Given the description of an element on the screen output the (x, y) to click on. 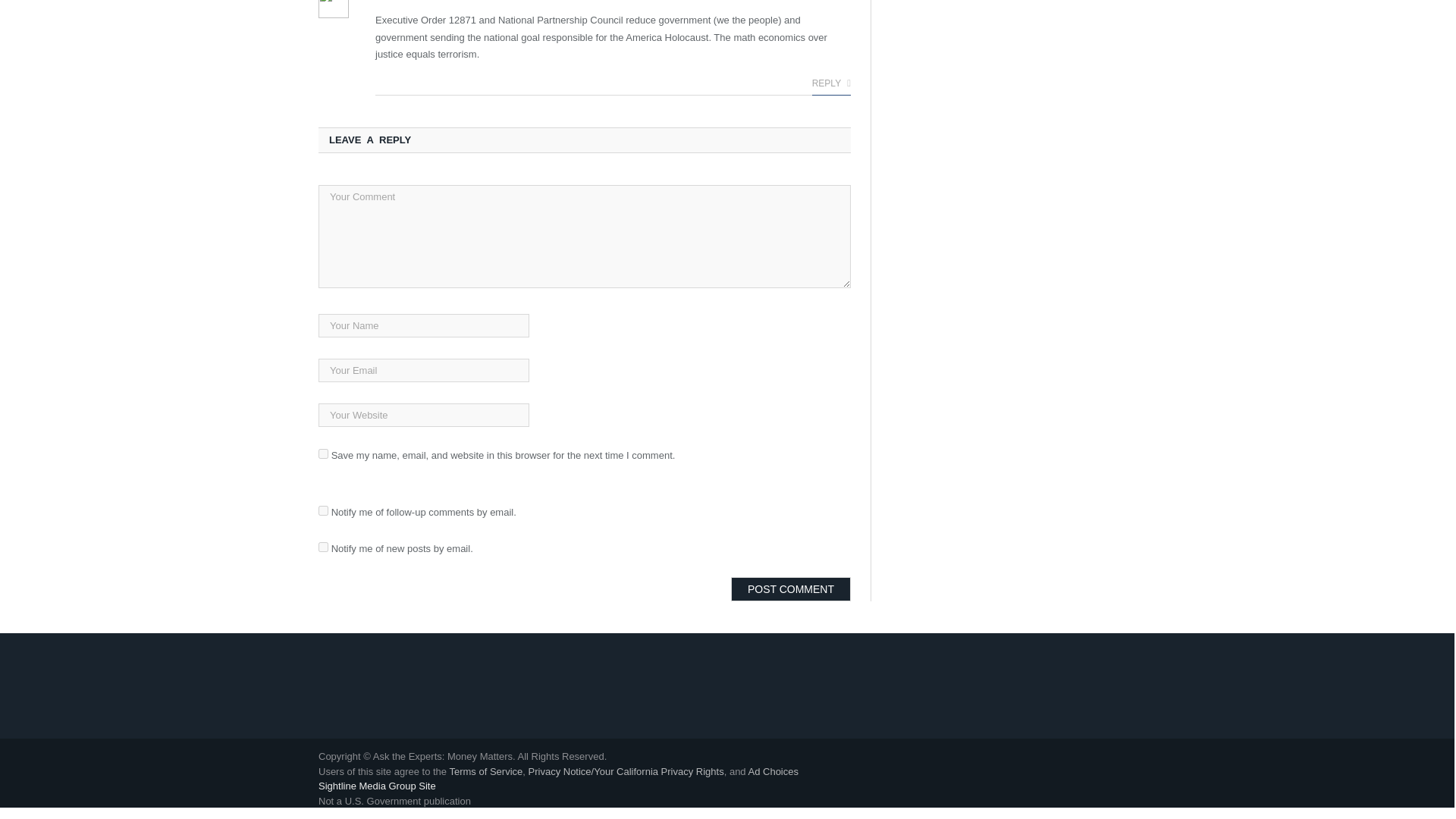
yes (323, 453)
Post Comment (790, 589)
subscribe (323, 510)
subscribe (323, 547)
